Given the description of an element on the screen output the (x, y) to click on. 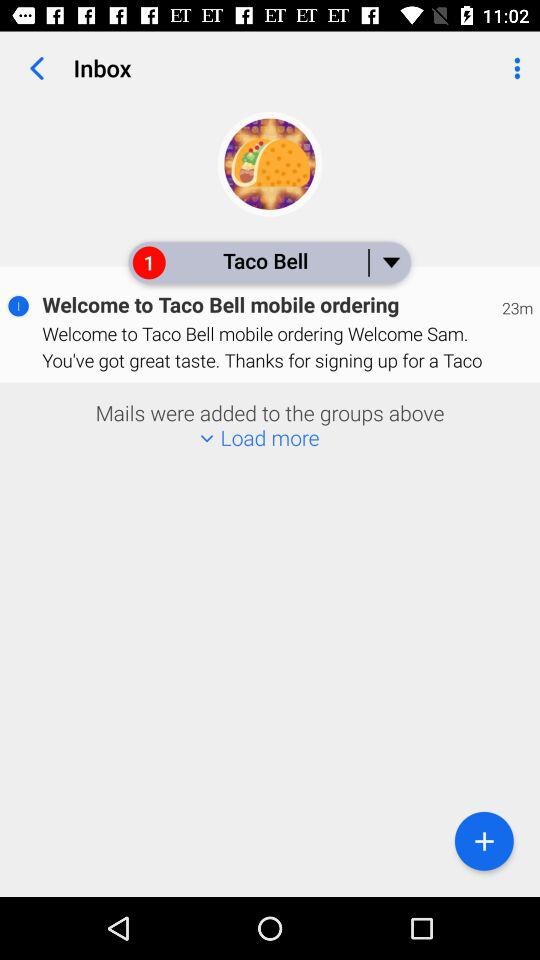
go to left of load more (206, 439)
